Given the description of an element on the screen output the (x, y) to click on. 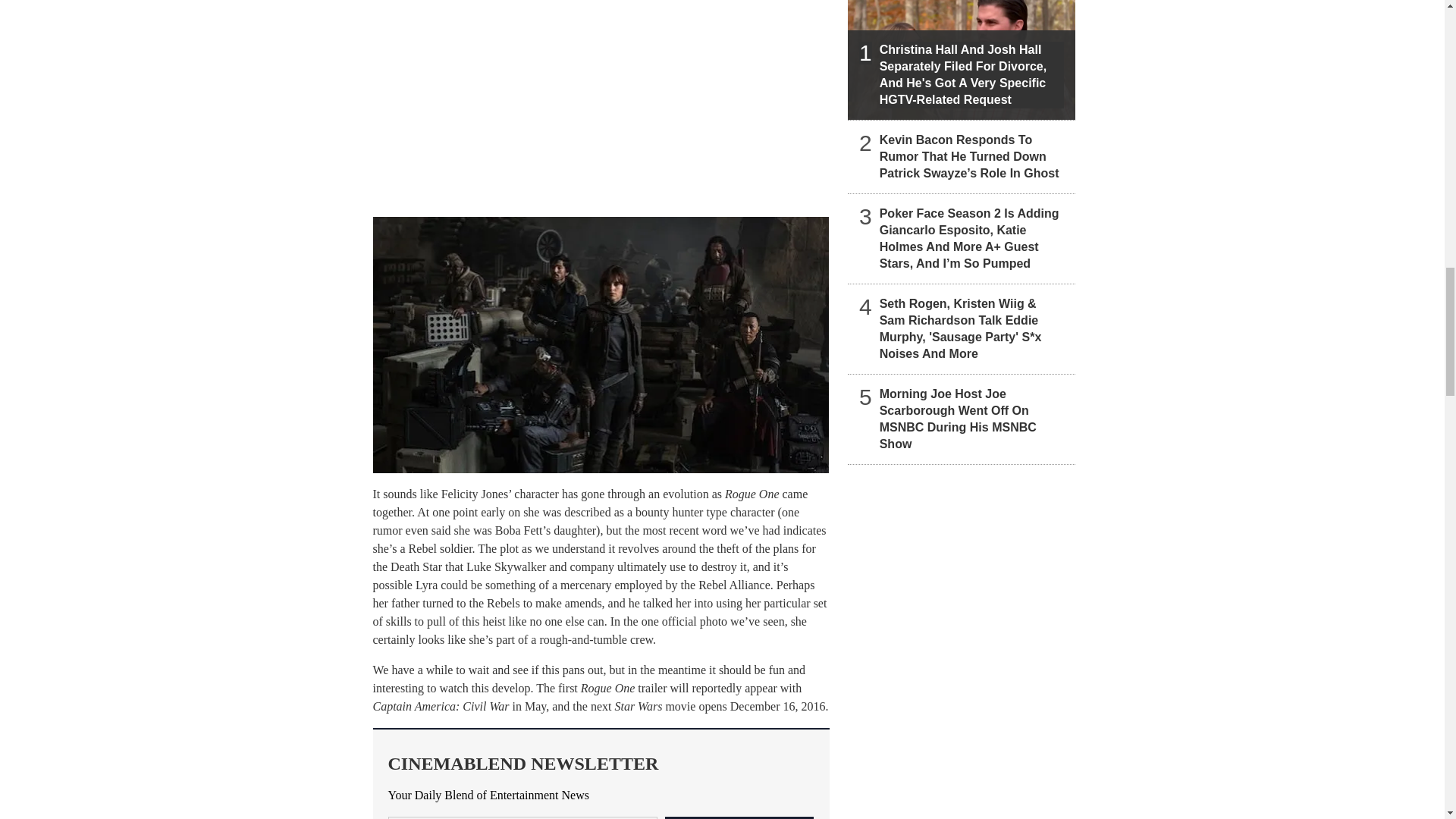
Sign me up (739, 817)
